Given the description of an element on the screen output the (x, y) to click on. 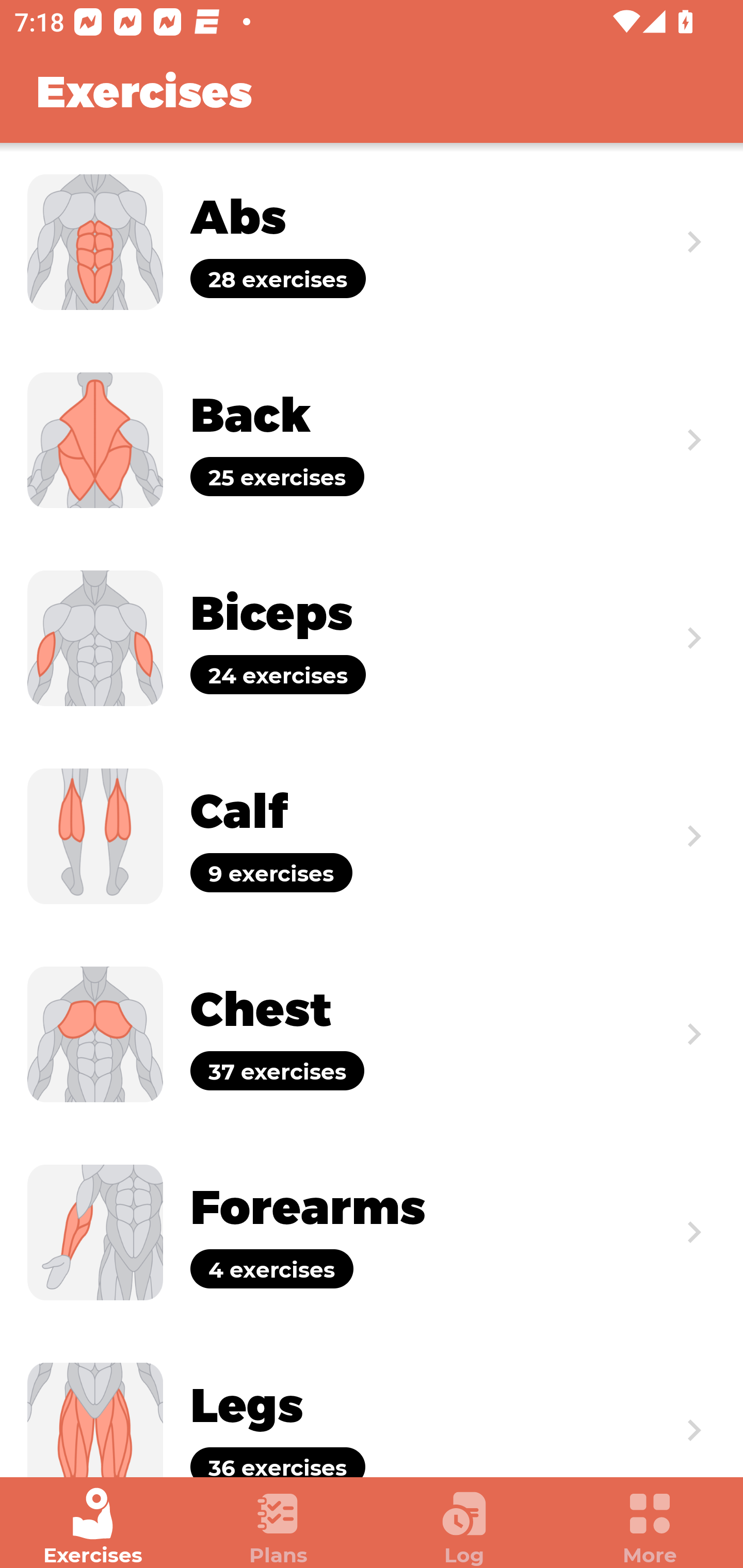
Exercise Abs 28 exercises (371, 241)
Exercise Back 25 exercises (371, 439)
Exercise Biceps 24 exercises (371, 637)
Exercise Calf 9 exercises (371, 836)
Exercise Chest 37 exercises (371, 1033)
Exercise Forearms 4 exercises (371, 1232)
Exercise Legs 36 exercises (371, 1404)
Exercises (92, 1527)
Plans (278, 1527)
Log (464, 1527)
More (650, 1527)
